Given the description of an element on the screen output the (x, y) to click on. 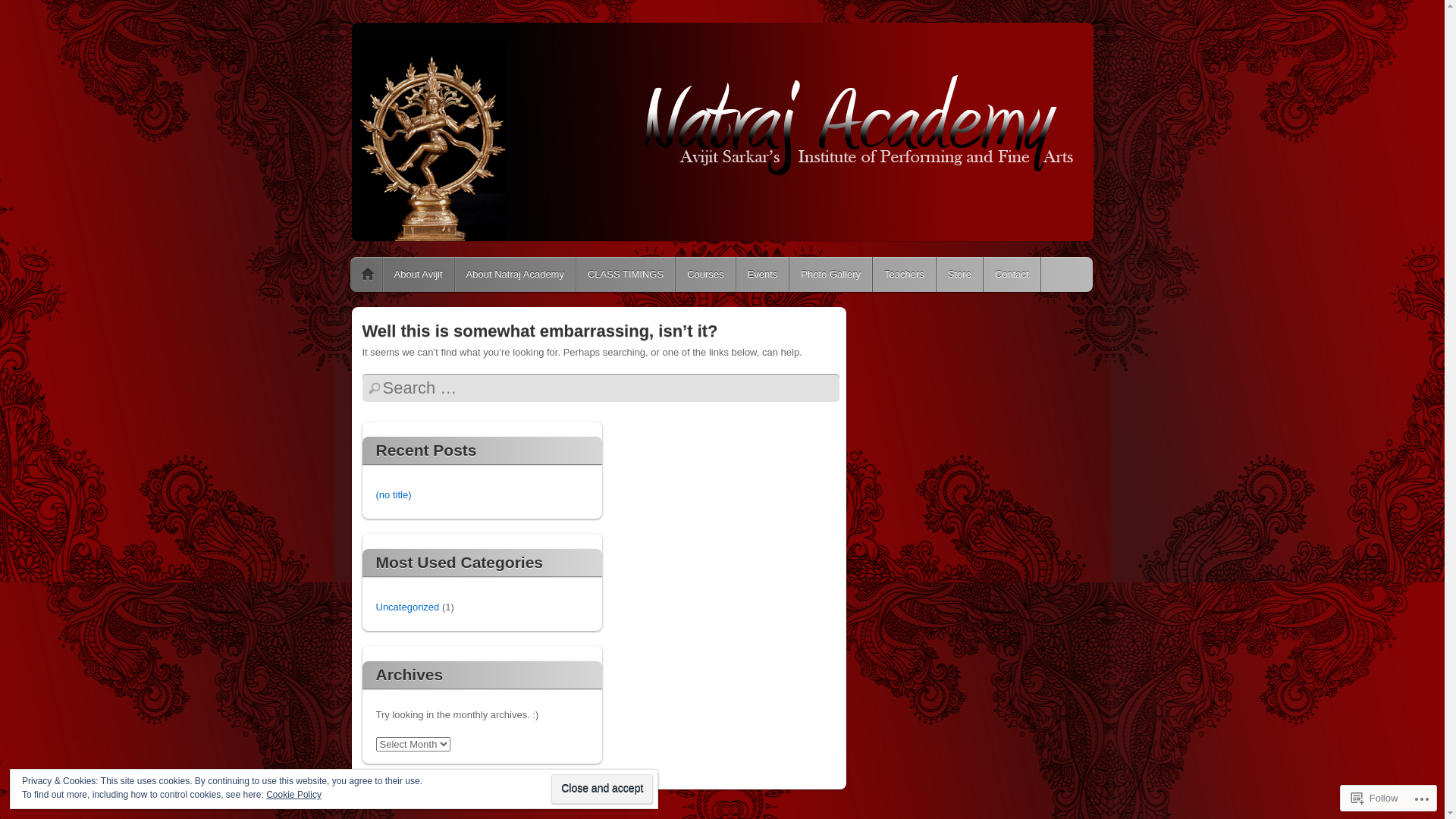
Photo Gallery Element type: text (830, 273)
Store Element type: text (959, 273)
CLASS TIMINGS Element type: text (625, 273)
Home Element type: text (367, 273)
(no title) Element type: text (393, 494)
Close and accept Element type: text (601, 788)
natrajacademy Element type: text (417, 32)
Skip to content Element type: text (394, 273)
Cookie Policy Element type: text (293, 794)
About Natraj Academy Element type: text (515, 273)
Follow Element type: text (1374, 797)
Uncategorized Element type: text (407, 606)
Blog at WordPress.com. Element type: text (400, 795)
About Avijit Element type: text (417, 273)
Teachers Element type: text (903, 273)
Courses Element type: text (704, 273)
Events Element type: text (762, 273)
Contact Element type: text (1011, 273)
Search Element type: text (21, 9)
